Given the description of an element on the screen output the (x, y) to click on. 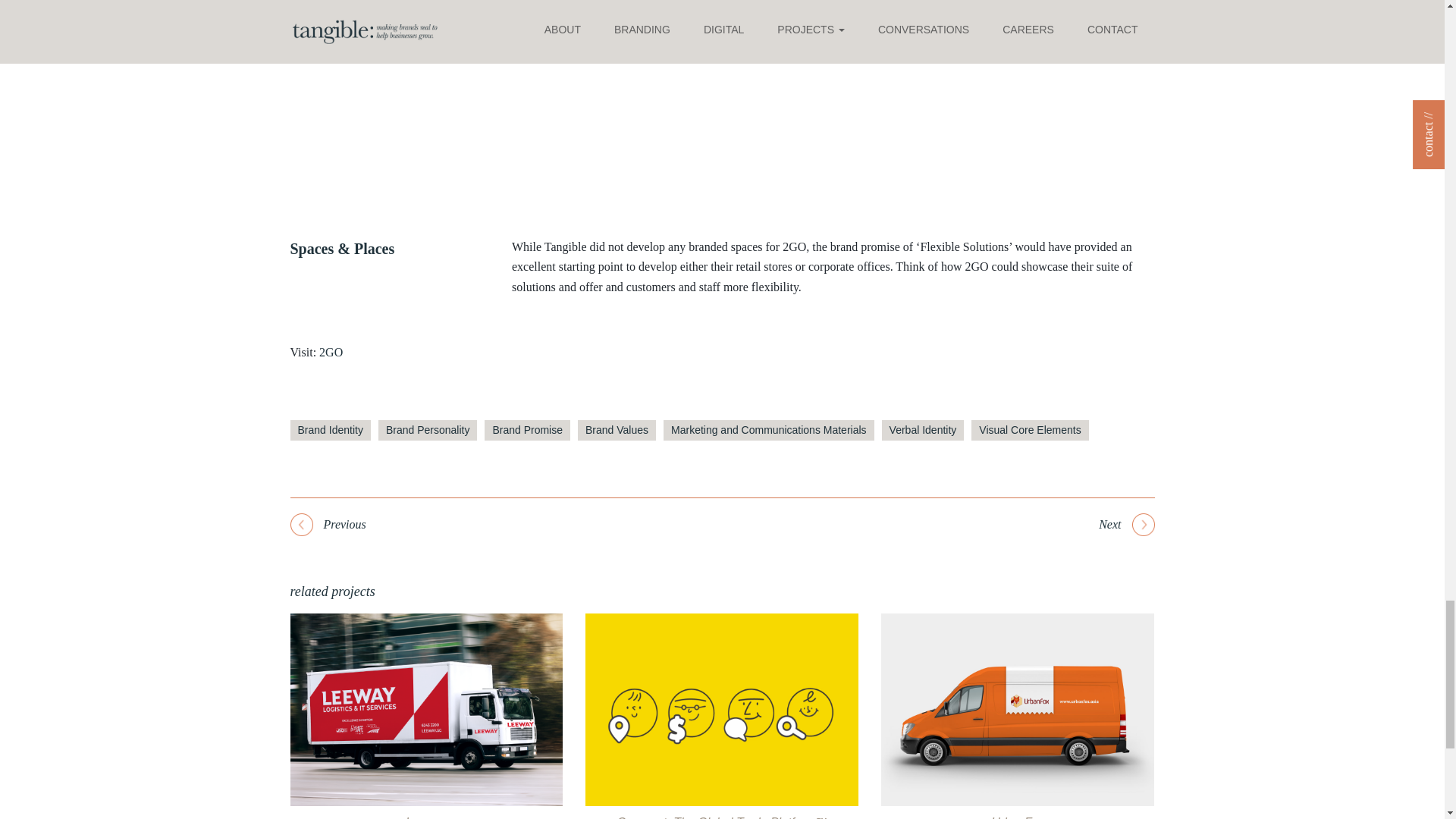
Brand Personality (427, 430)
Leeway (425, 816)
UrbanFox (1017, 814)
2GO (330, 351)
Visual Core Elements (1029, 430)
Verbal Identity (922, 430)
Marketing and Communications Materials (769, 430)
Brand Values (617, 430)
Previous (327, 524)
Brand Identity (329, 430)
Brand Promise (527, 430)
Next (1126, 524)
